Given the description of an element on the screen output the (x, y) to click on. 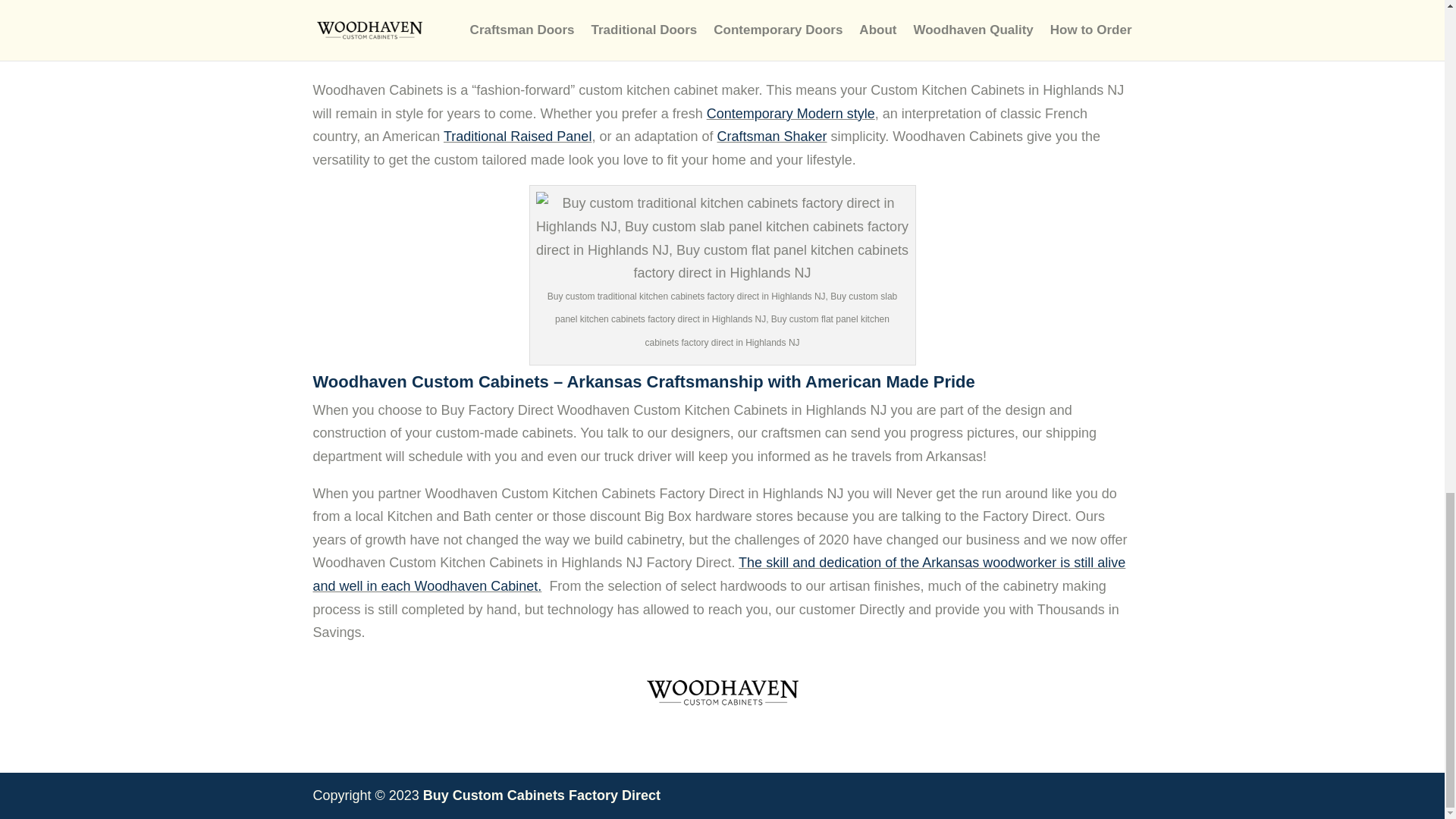
Craftsman Shaker (772, 136)
Traditional Raised Panel (517, 136)
Contemporary Modern style (790, 113)
